Given the description of an element on the screen output the (x, y) to click on. 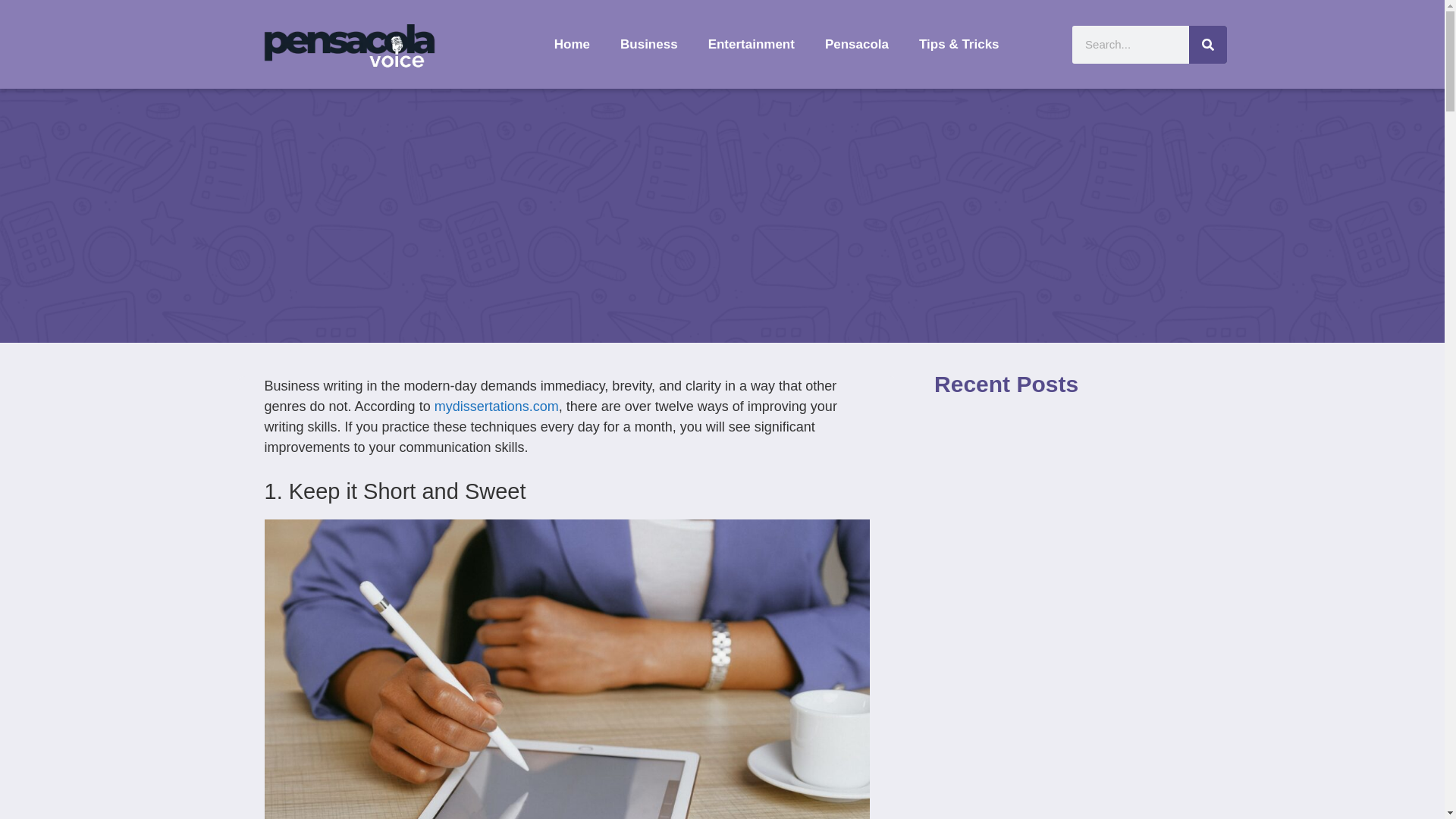
Business (649, 44)
mydissertations.com (496, 406)
Pensacola (856, 44)
Entertainment (751, 44)
Home (571, 44)
